Given the description of an element on the screen output the (x, y) to click on. 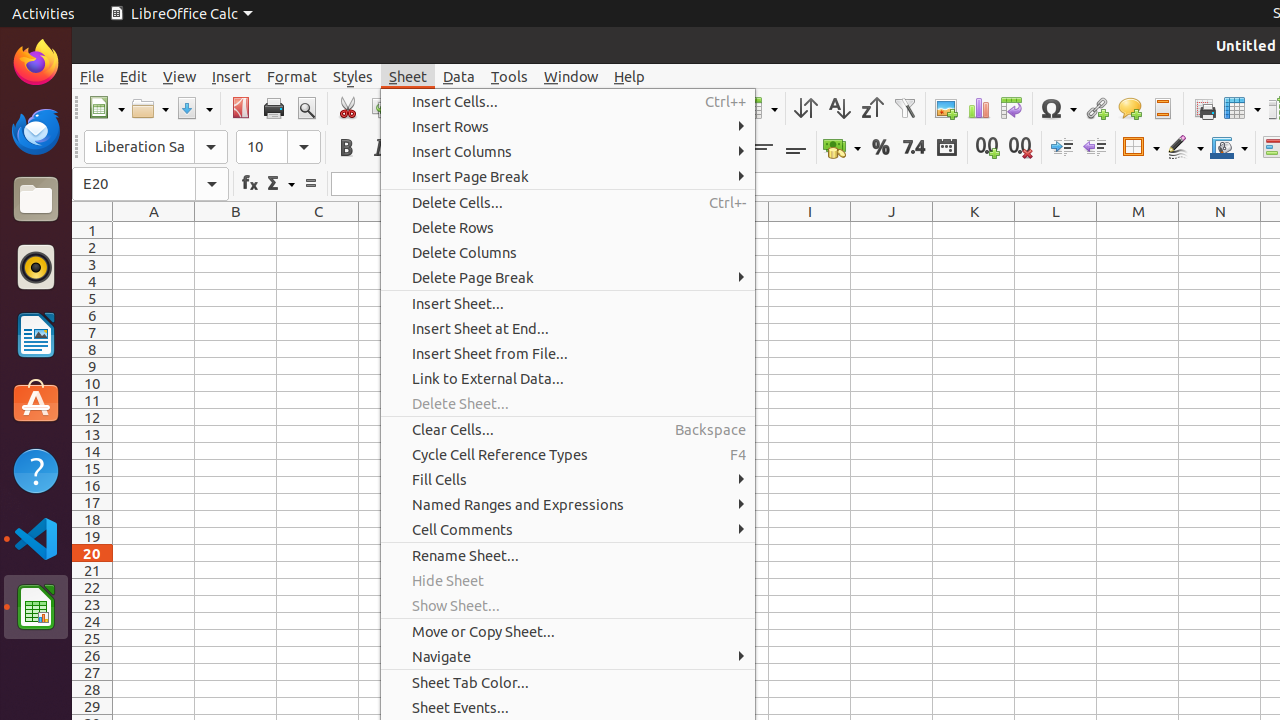
Border Style Element type: push-button (1185, 147)
Symbol Element type: push-button (1058, 108)
Sheet Tab Color... Element type: menu-item (568, 682)
Bold Element type: toggle-button (345, 147)
Comment Element type: push-button (1129, 108)
